Given the description of an element on the screen output the (x, y) to click on. 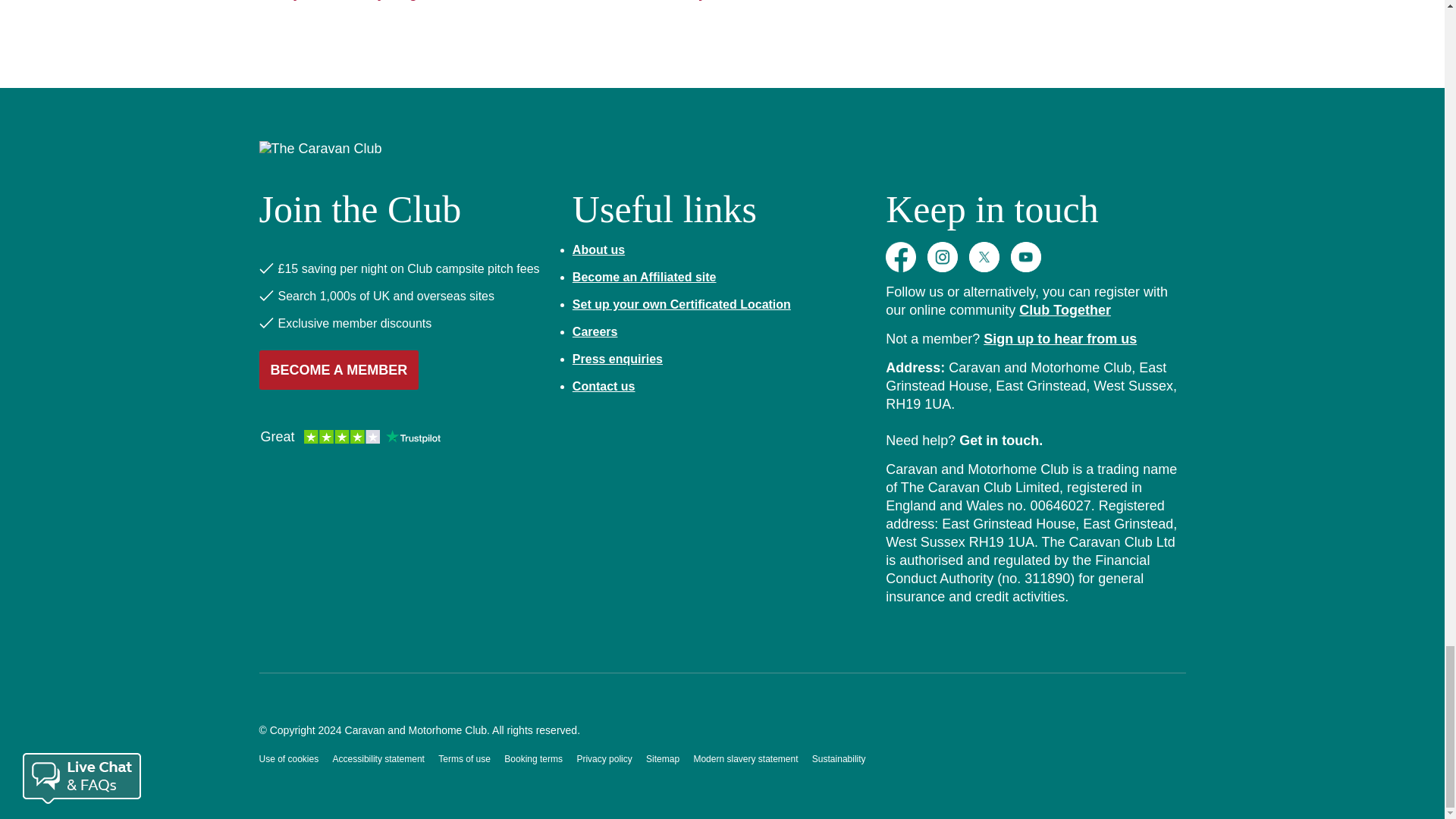
YouTube (1025, 256)
Instagram (942, 256)
Twitter (983, 256)
Customer reviews powered by Trustpilot (349, 438)
Club Together (1064, 309)
Facebook (900, 256)
